Given the description of an element on the screen output the (x, y) to click on. 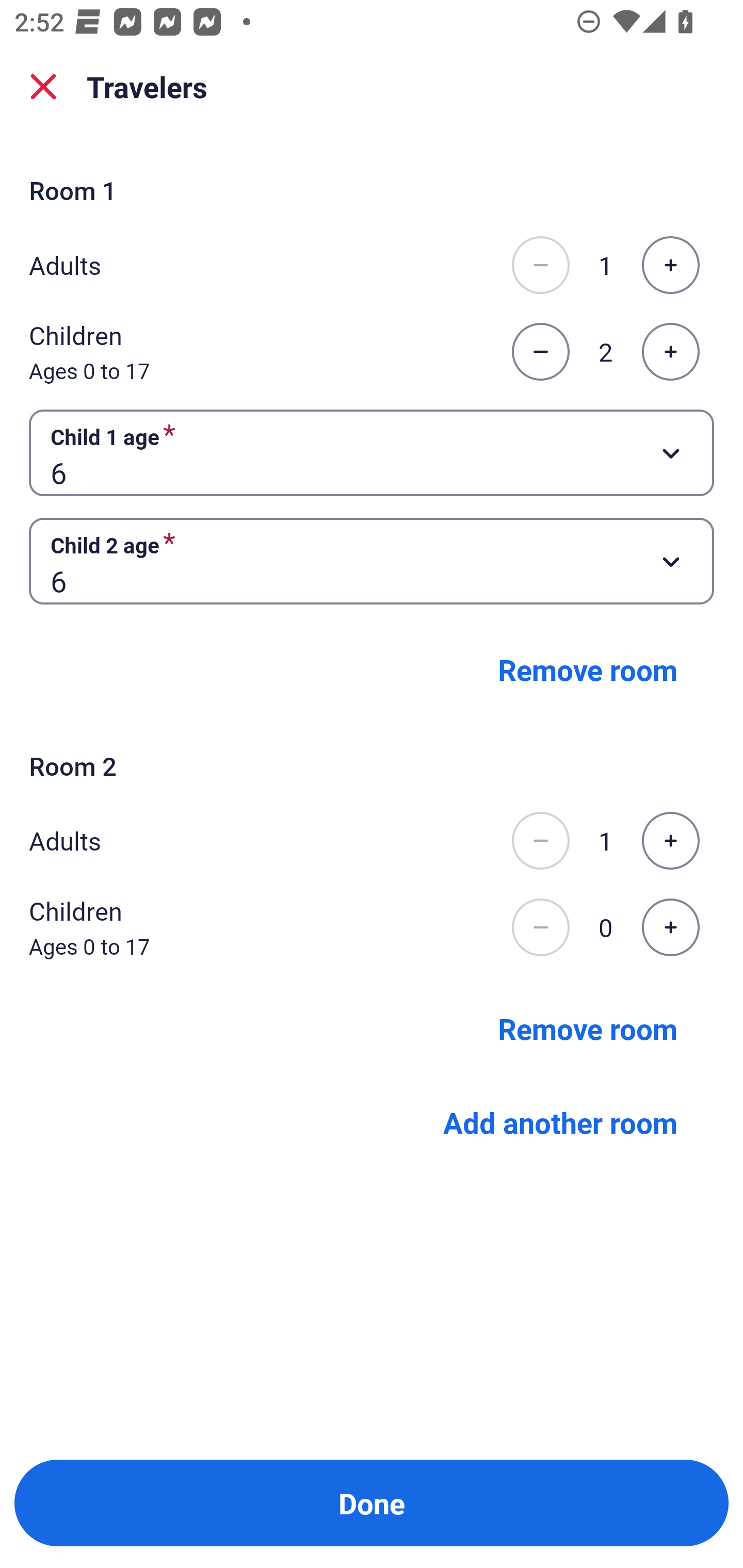
close (43, 86)
Decrease the number of adults (540, 264)
Increase the number of adults (670, 264)
Decrease the number of children (540, 351)
Increase the number of children (670, 351)
Child 1 age required Button 6 (371, 452)
Child 2 age required Button 6 (371, 561)
Remove room (588, 669)
Decrease the number of adults (540, 841)
Increase the number of adults (670, 841)
Decrease the number of children (540, 927)
Increase the number of children (670, 927)
Remove room (588, 1028)
Add another room (560, 1121)
Done (371, 1502)
